Given the description of an element on the screen output the (x, y) to click on. 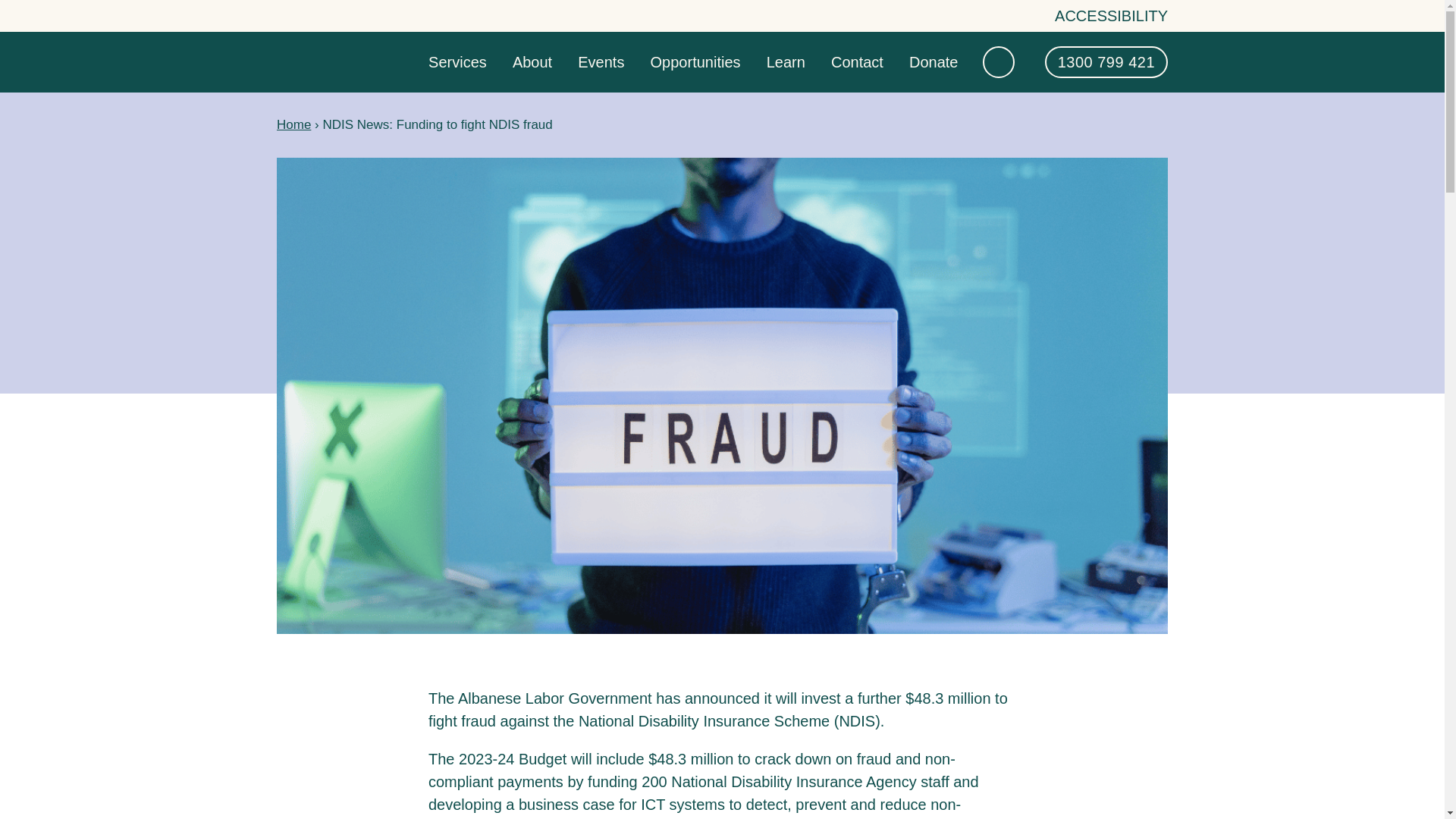
Events (601, 62)
Contact (857, 62)
Toggle accessibility mode (1110, 15)
ACCESSIBILITY (1110, 15)
Go to home page (336, 61)
Toggle search form (998, 61)
Learn (786, 62)
Opportunities (695, 62)
Services (457, 62)
Donate (933, 62)
About (531, 62)
